Given the description of an element on the screen output the (x, y) to click on. 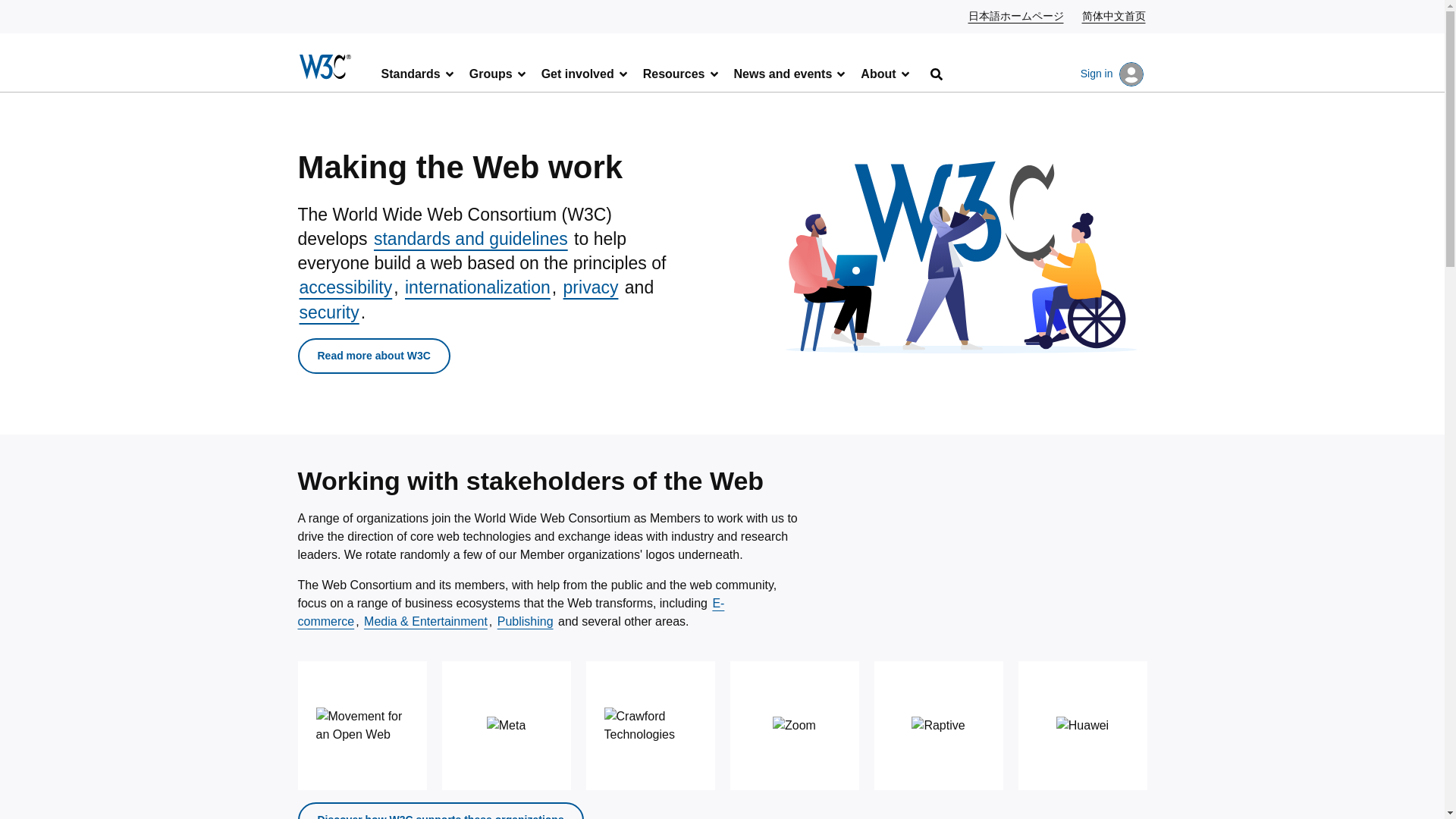
Get involved (584, 72)
Standards (418, 72)
Groups (498, 72)
Visit the W3C homepage (326, 69)
Resources (681, 72)
